Given the description of an element on the screen output the (x, y) to click on. 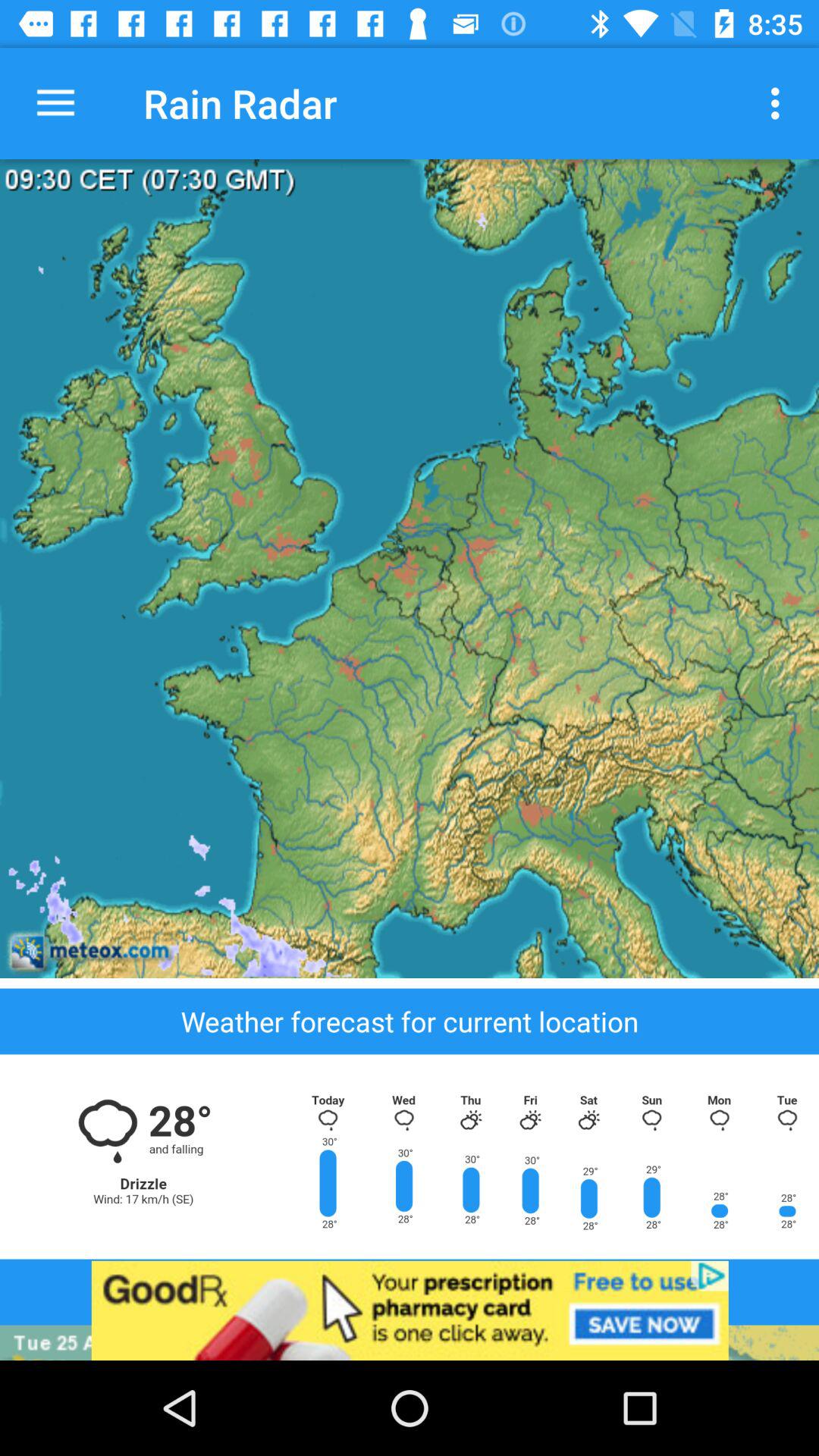
click to view advertisements options (409, 1310)
